Given the description of an element on the screen output the (x, y) to click on. 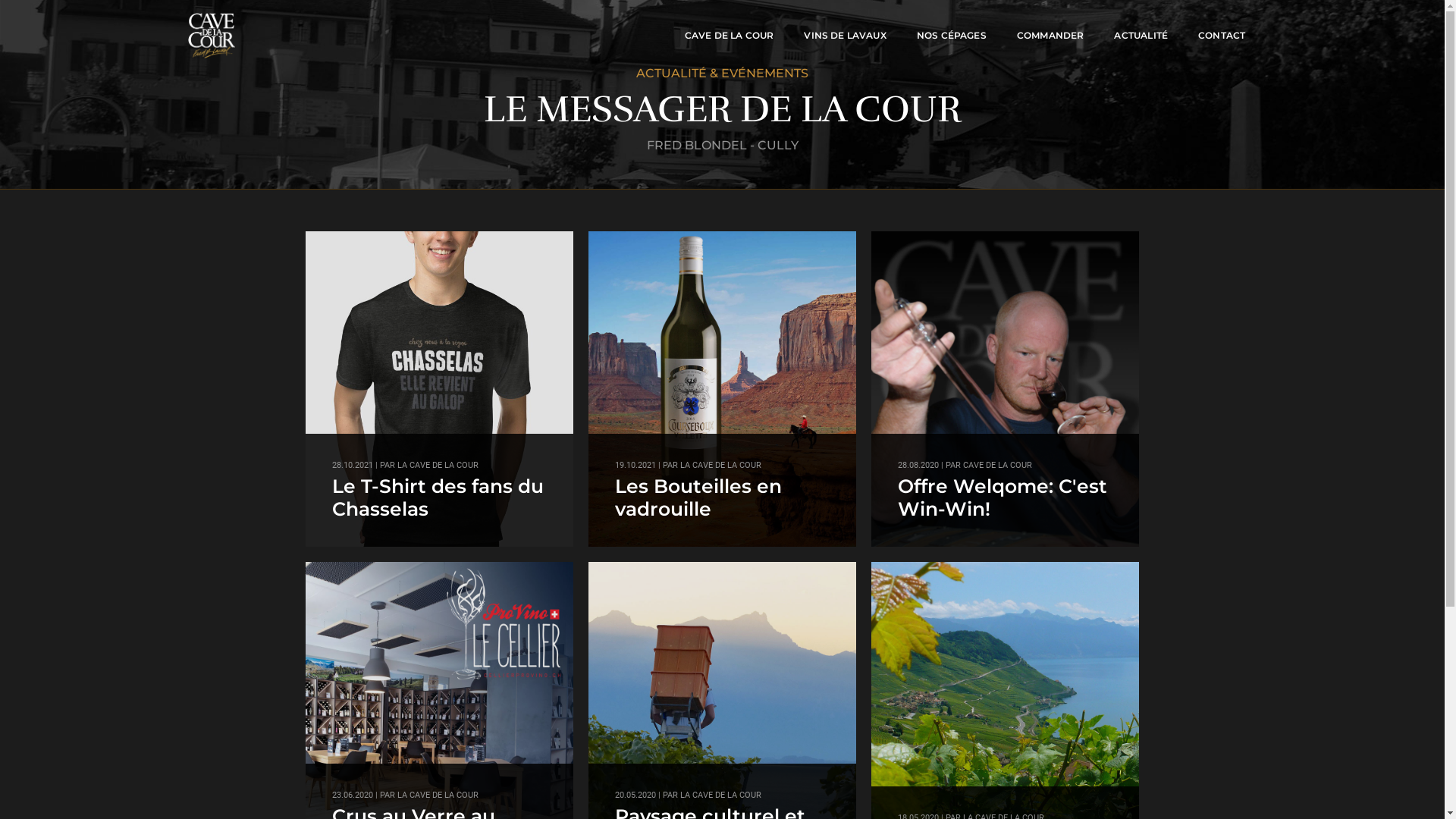
VINS DE LAVAUX Element type: text (844, 35)
Les Bouteilles en vadrouille Element type: text (698, 497)
Le T-Shirt des fans du Chasselas Element type: text (437, 497)
Offre Welqome: C'est Win-Win! Element type: text (1002, 497)
CONTACT Element type: text (1221, 35)
LA CAVE DE LA COUR Element type: text (437, 465)
COMMANDER Element type: text (1050, 35)
Cave de la Cour - Cully Element type: hover (211, 35)
CAVE DE LA COUR Element type: text (729, 35)
LA CAVE DE LA COUR Element type: text (437, 795)
CAVE DE LA COUR Element type: text (997, 465)
LA CAVE DE LA COUR Element type: text (720, 465)
LA CAVE DE LA COUR Element type: text (720, 795)
